Given the description of an element on the screen output the (x, y) to click on. 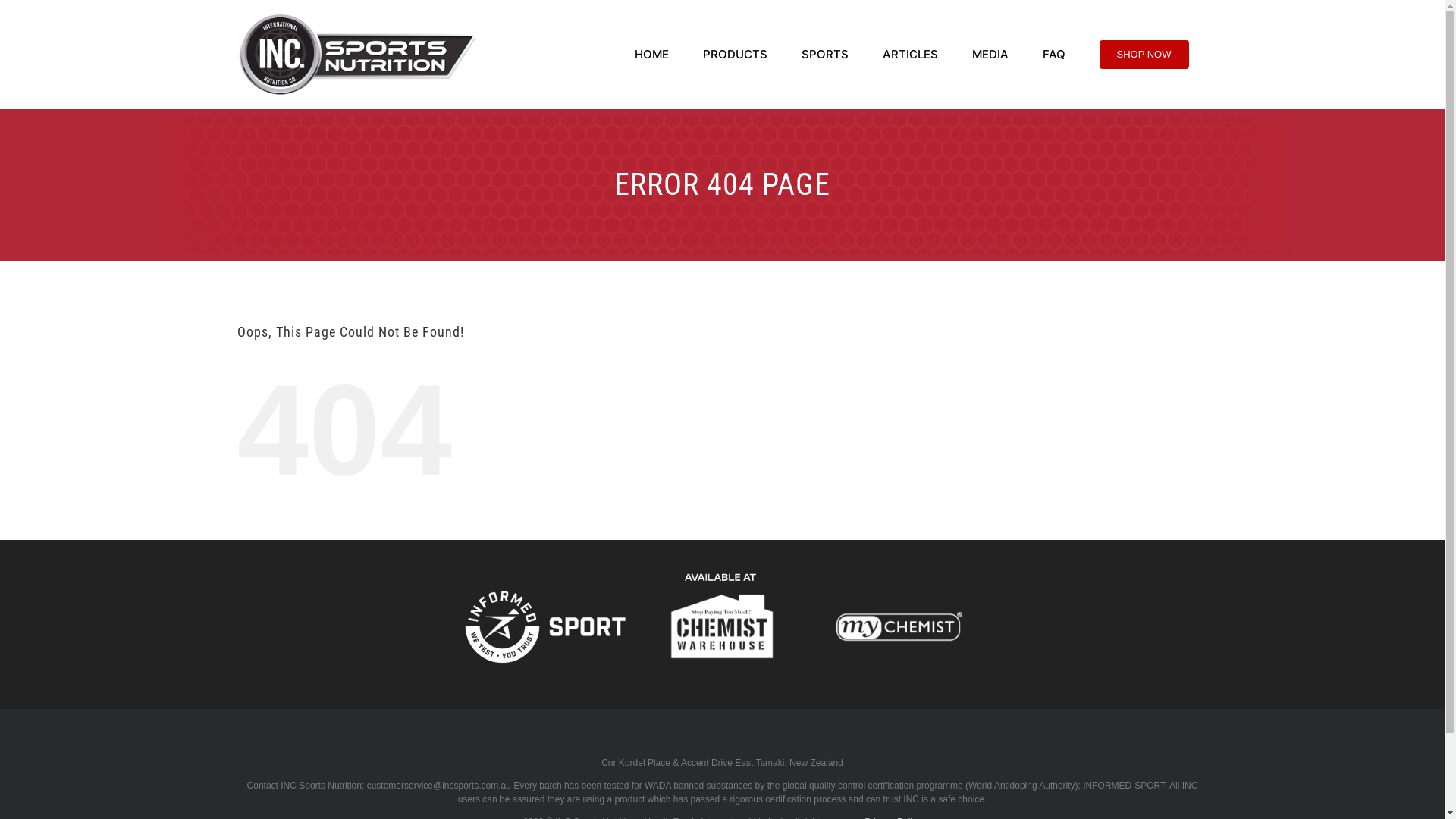
MEDIA Element type: text (990, 53)
SHOP NOW Element type: text (1144, 53)
PRODUCTS Element type: text (734, 53)
SPORTS Element type: text (823, 53)
FAQ Element type: text (1052, 53)
HOME Element type: text (650, 53)
ARTICLES Element type: text (910, 53)
